Given the description of an element on the screen output the (x, y) to click on. 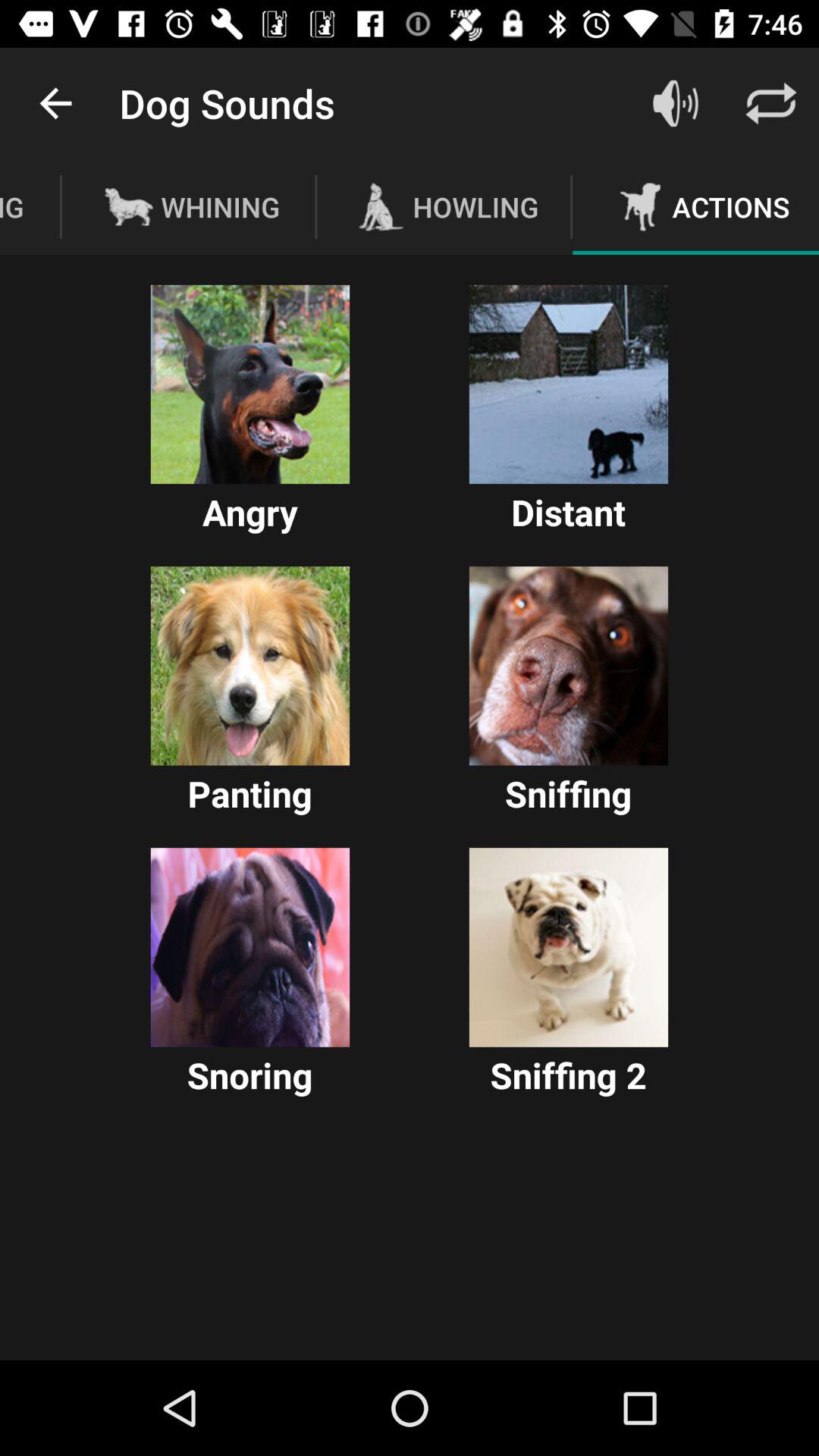
press the item next to howling item (675, 103)
